Given the description of an element on the screen output the (x, y) to click on. 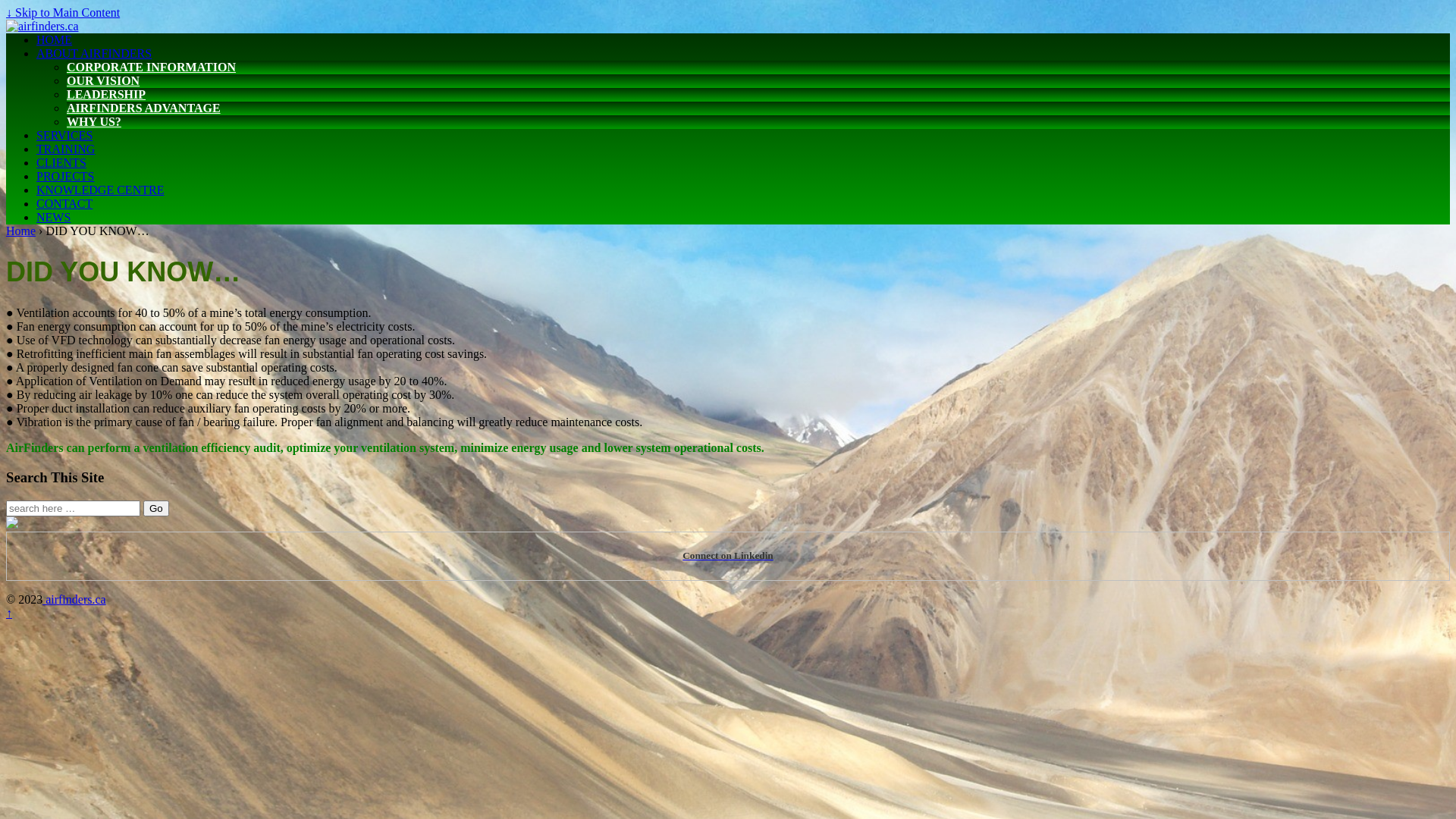
HOME Element type: text (54, 39)
TRAINING Element type: text (65, 148)
Connect on Linkedin Element type: text (727, 555)
KNOWLEDGE CENTRE Element type: text (99, 189)
LEADERSHIP Element type: text (105, 93)
CORPORATE INFORMATION Element type: text (150, 66)
PROJECTS Element type: text (65, 175)
CONTACT Element type: text (64, 203)
NEWS Element type: text (53, 216)
airfinders.ca Element type: text (74, 599)
SERVICES Element type: text (64, 134)
WHY US? Element type: text (93, 121)
Home Element type: text (20, 230)
ABOUT AIRFINDERS Element type: text (93, 53)
Go Element type: text (156, 508)
AIRFINDERS ADVANTAGE Element type: text (143, 107)
CLIENTS Element type: text (61, 162)
OUR VISION Element type: text (102, 80)
